Given the description of an element on the screen output the (x, y) to click on. 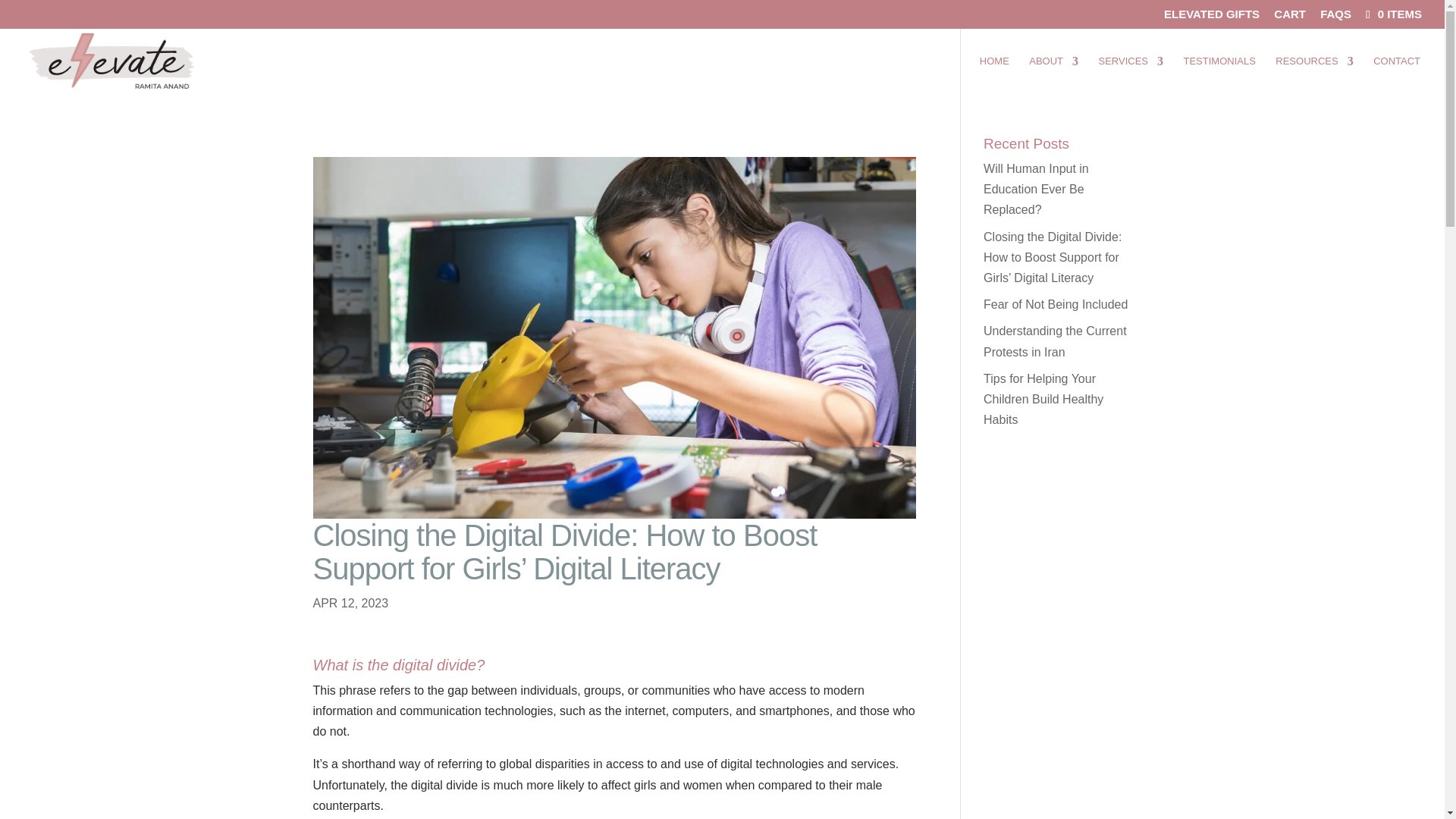
CART (1290, 17)
0 ITEMS (1392, 13)
CONTACT (1397, 74)
ELEVATED GIFTS (1211, 17)
HOME (994, 74)
SERVICES (1131, 74)
TESTIMONIALS (1218, 74)
FAQS (1335, 17)
RESOURCES (1313, 74)
ABOUT (1053, 74)
